Given the description of an element on the screen output the (x, y) to click on. 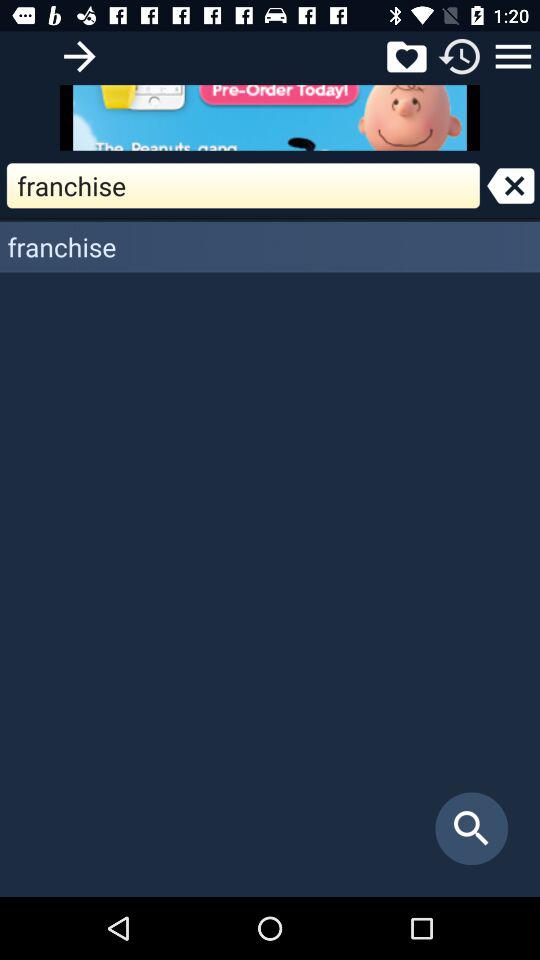
favorites (406, 56)
